Given the description of an element on the screen output the (x, y) to click on. 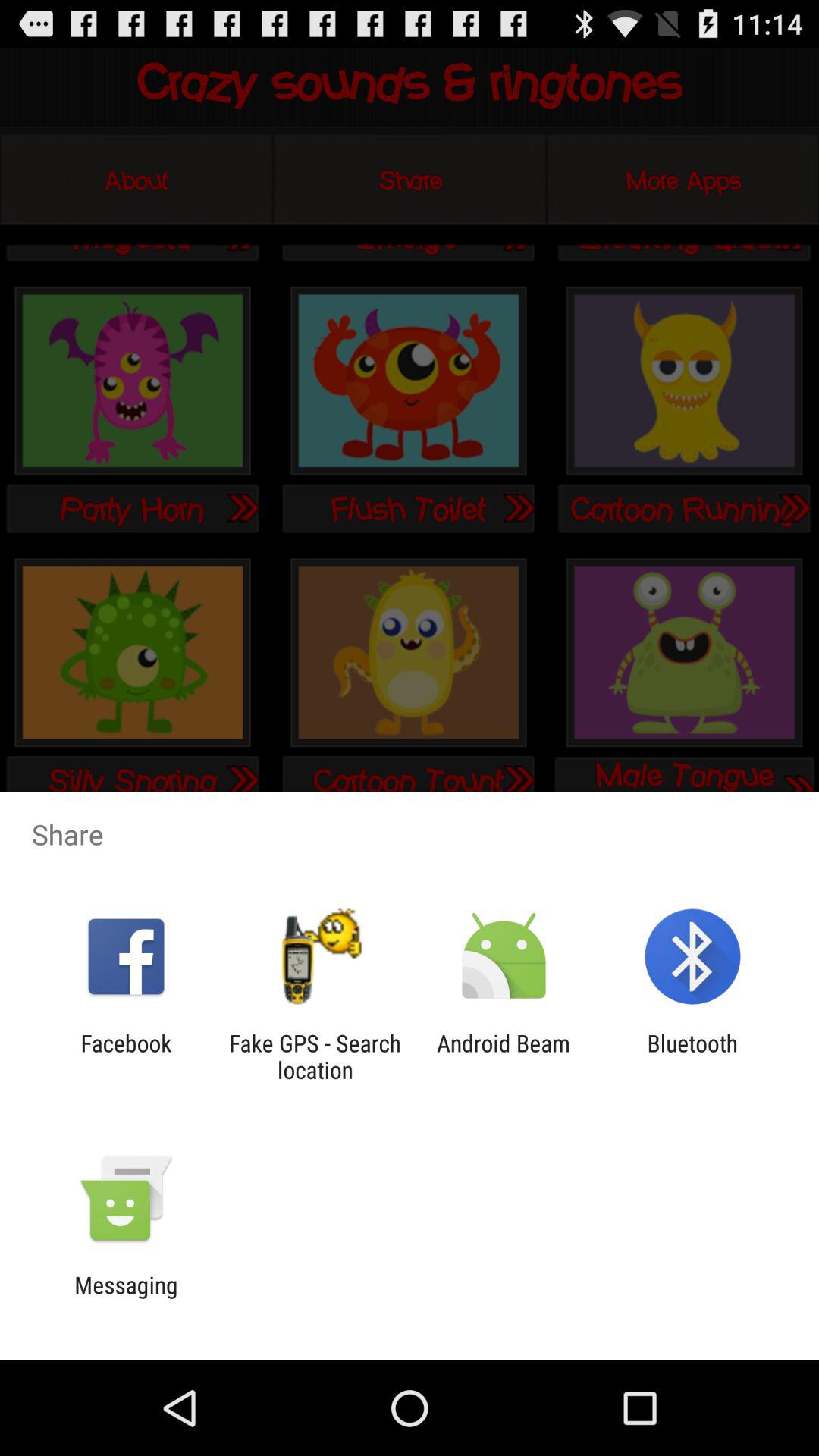
scroll to the android beam item (503, 1056)
